Given the description of an element on the screen output the (x, y) to click on. 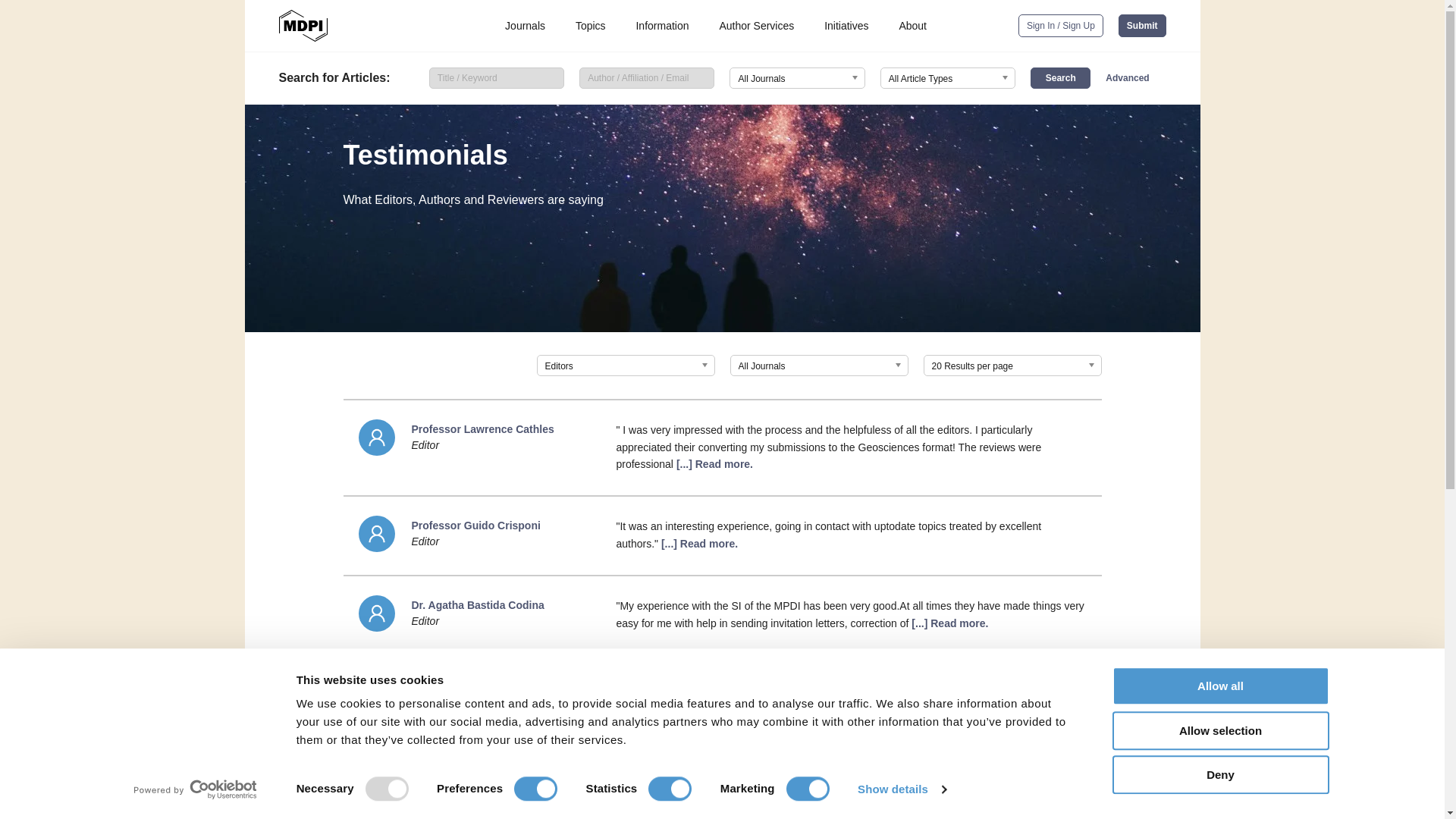
Show details (900, 789)
Search (1060, 77)
Search (1060, 77)
